Given the description of an element on the screen output the (x, y) to click on. 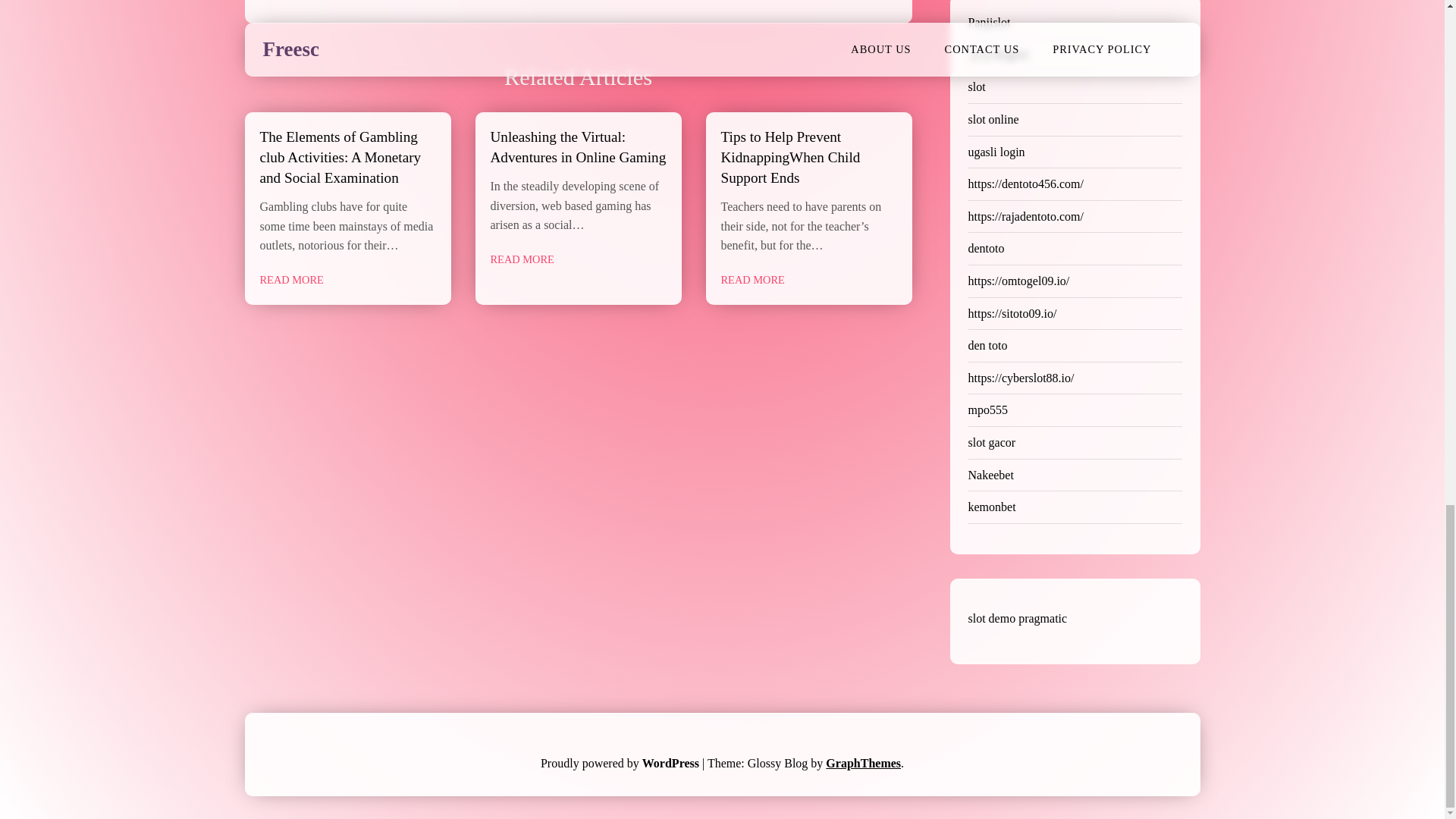
Unleashing the Virtual: Adventures in Online Gaming (577, 146)
Tips to Help Prevent KidnappingWhen Child Support Ends (790, 156)
READ MORE (521, 259)
READ MORE (752, 280)
READ MORE (291, 280)
